Given the description of an element on the screen output the (x, y) to click on. 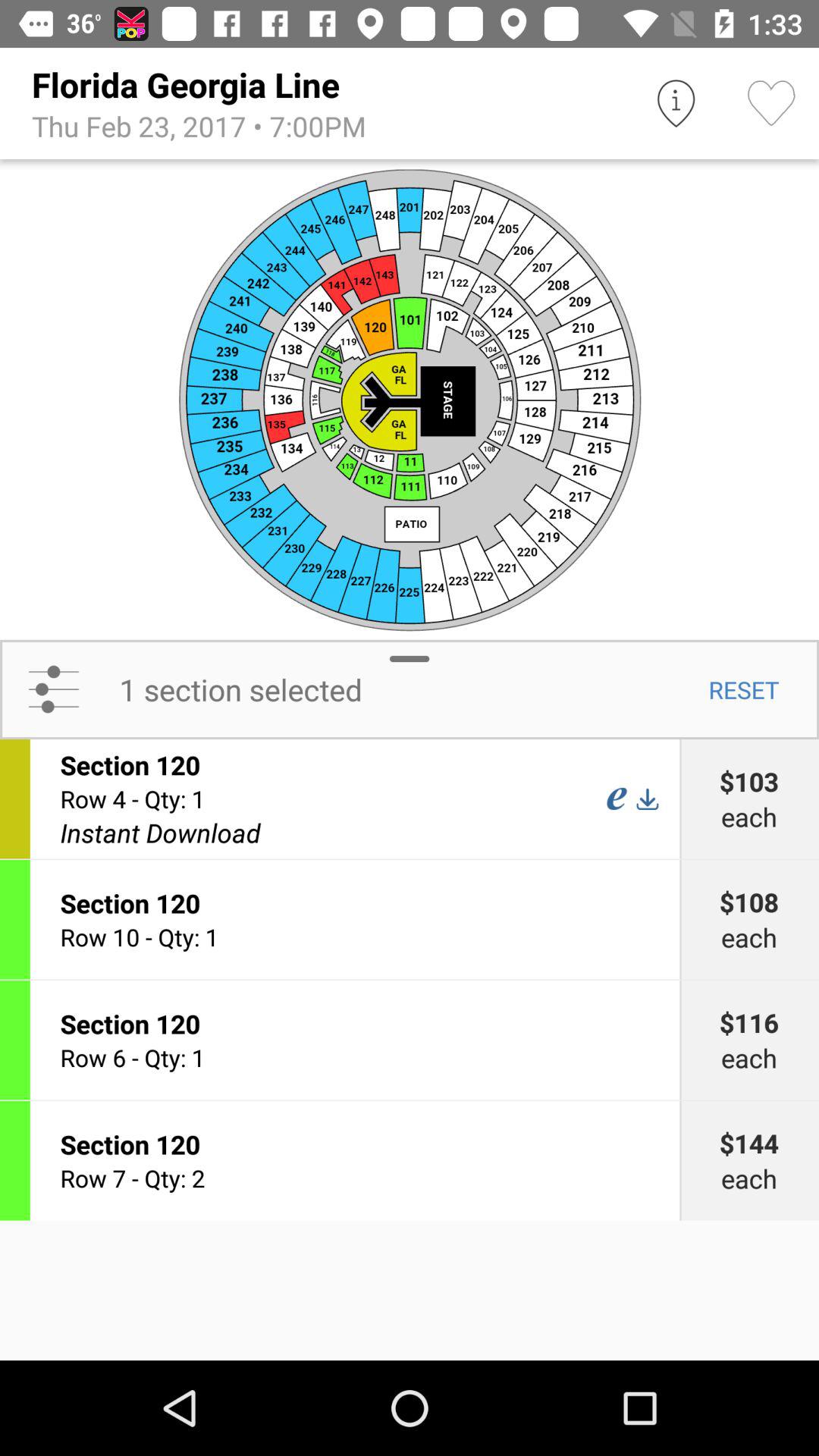
turn on the icon to the right of 1 section selected (743, 689)
